Given the description of an element on the screen output the (x, y) to click on. 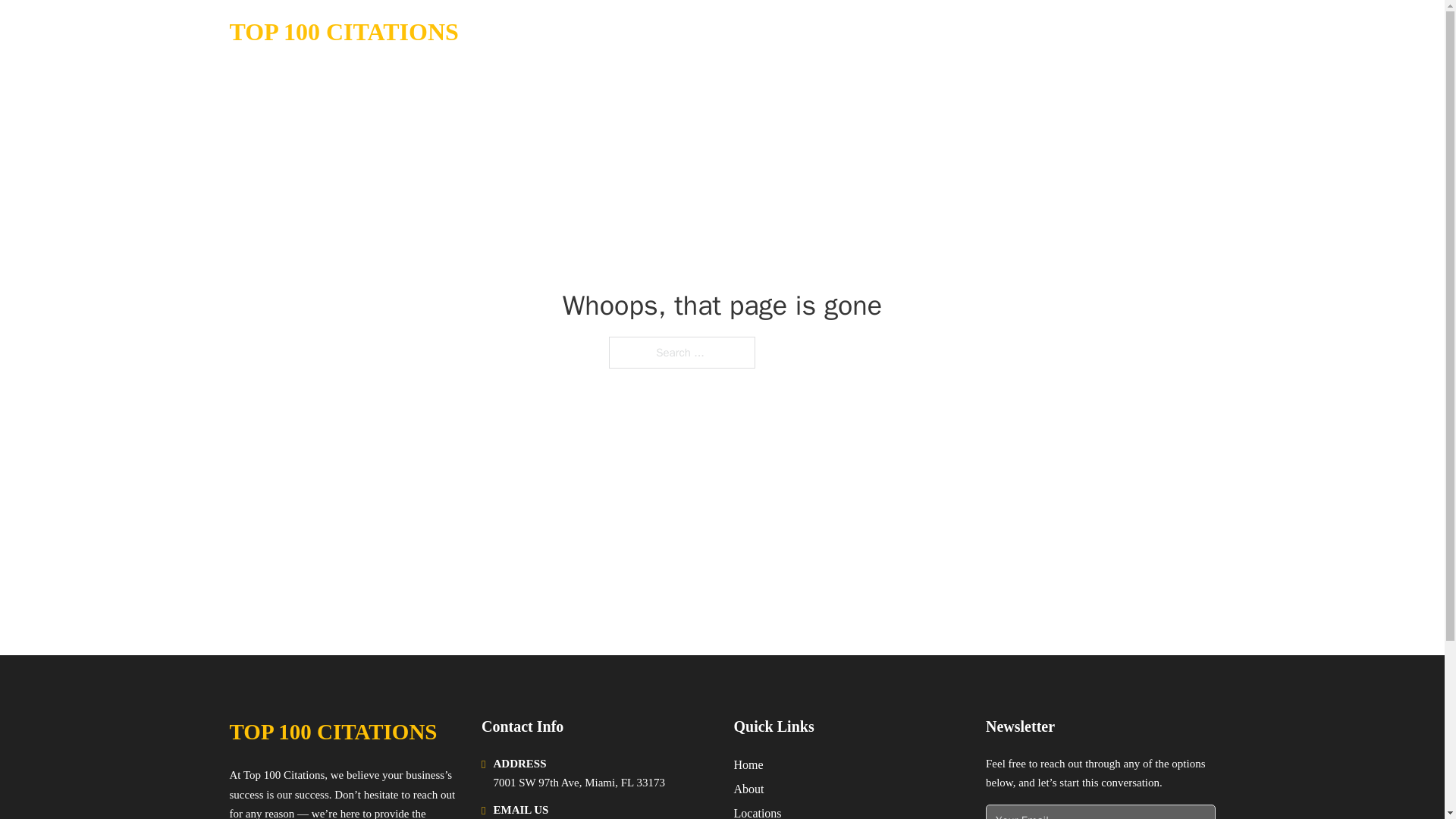
TOP 100 CITATIONS (343, 31)
Locations (757, 811)
About (748, 788)
TOP 100 CITATIONS (332, 732)
HOME (1025, 31)
LOCATIONS (1098, 31)
Home (747, 764)
